Given the description of an element on the screen output the (x, y) to click on. 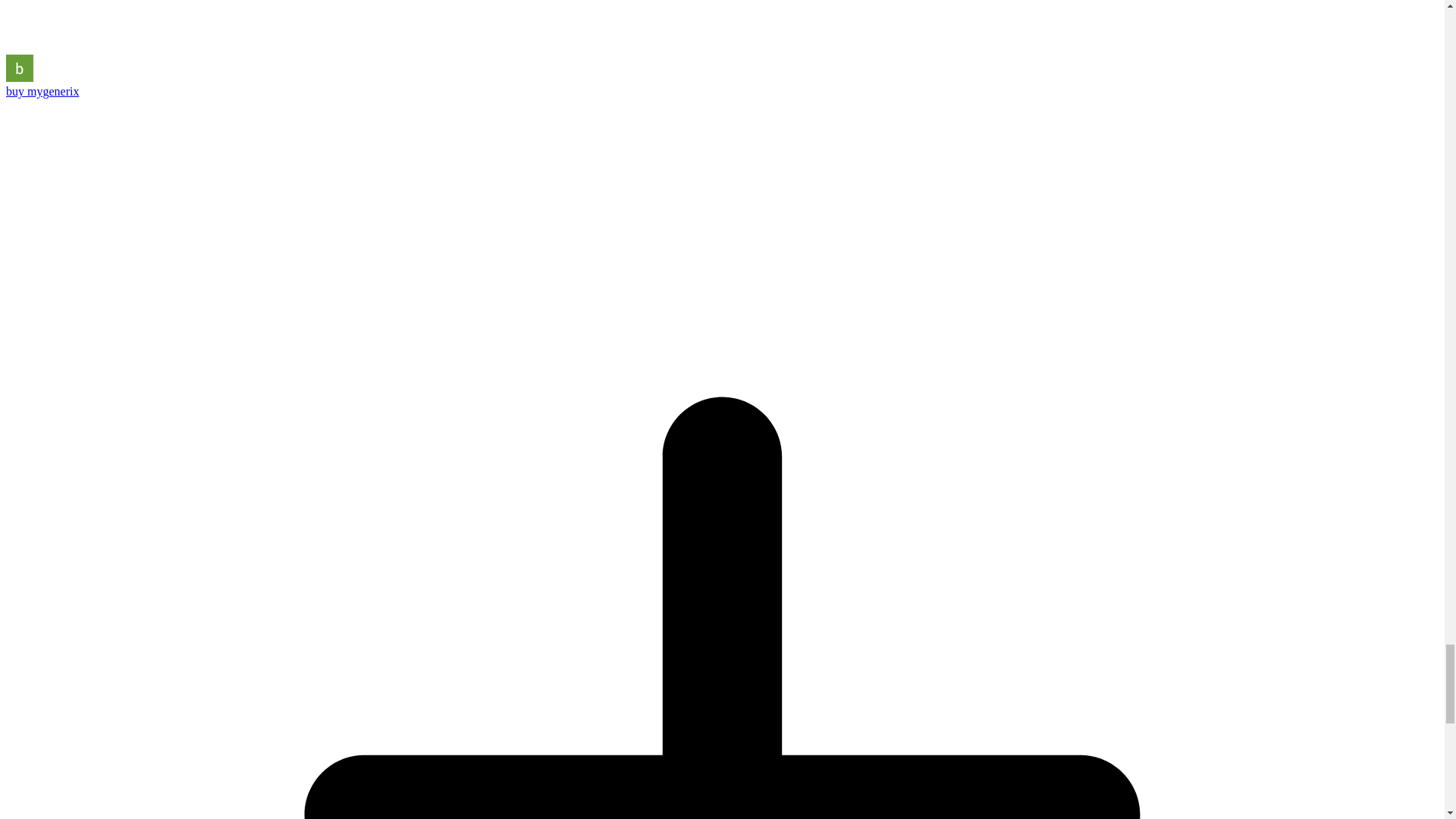
buy mygenerix (41, 91)
